Given the description of an element on the screen output the (x, y) to click on. 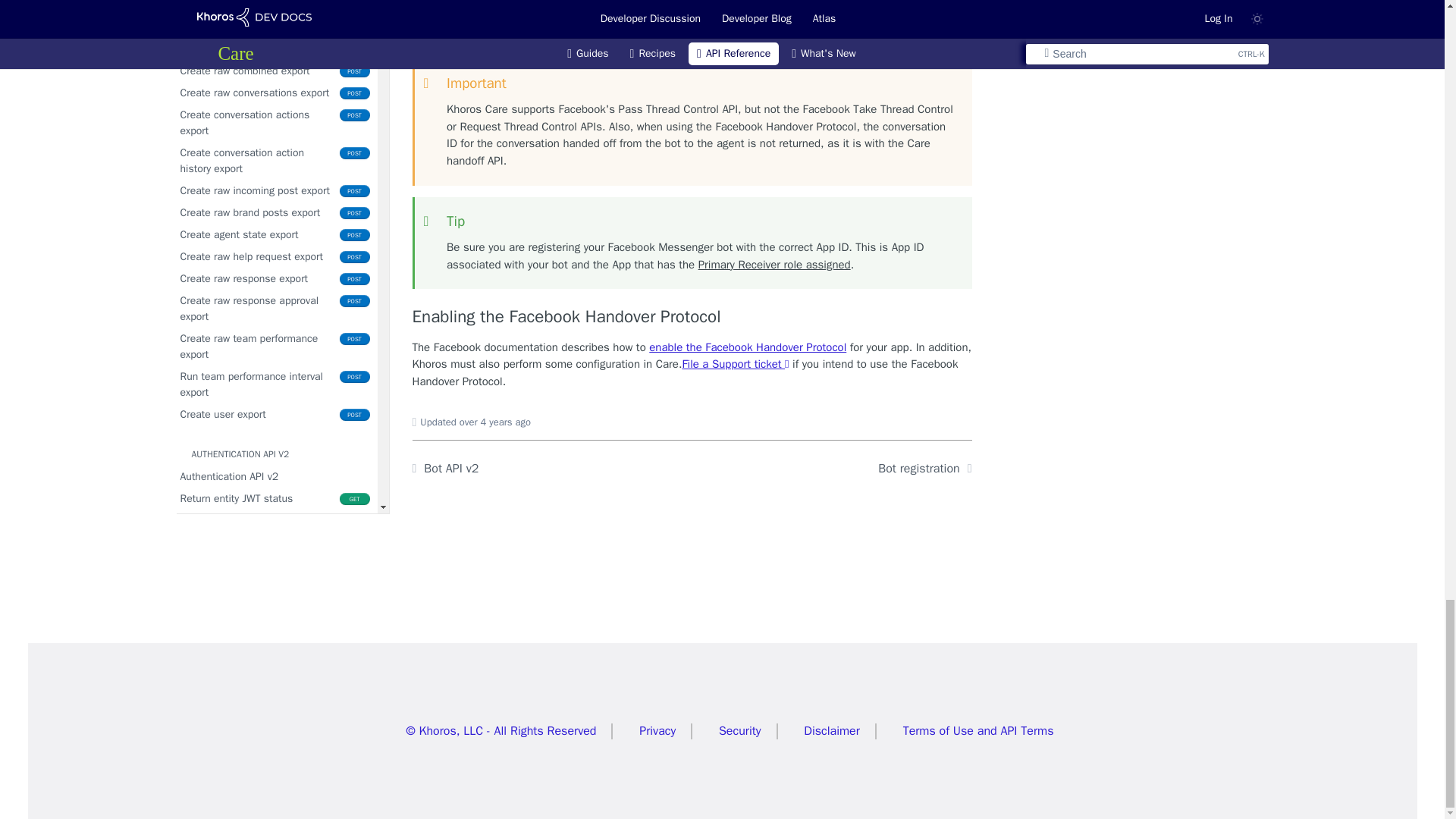
Enabling the Facebook Handover Protocol (692, 316)
botApiBotHandoffFlowFacebook.png (692, 23)
